Given the description of an element on the screen output the (x, y) to click on. 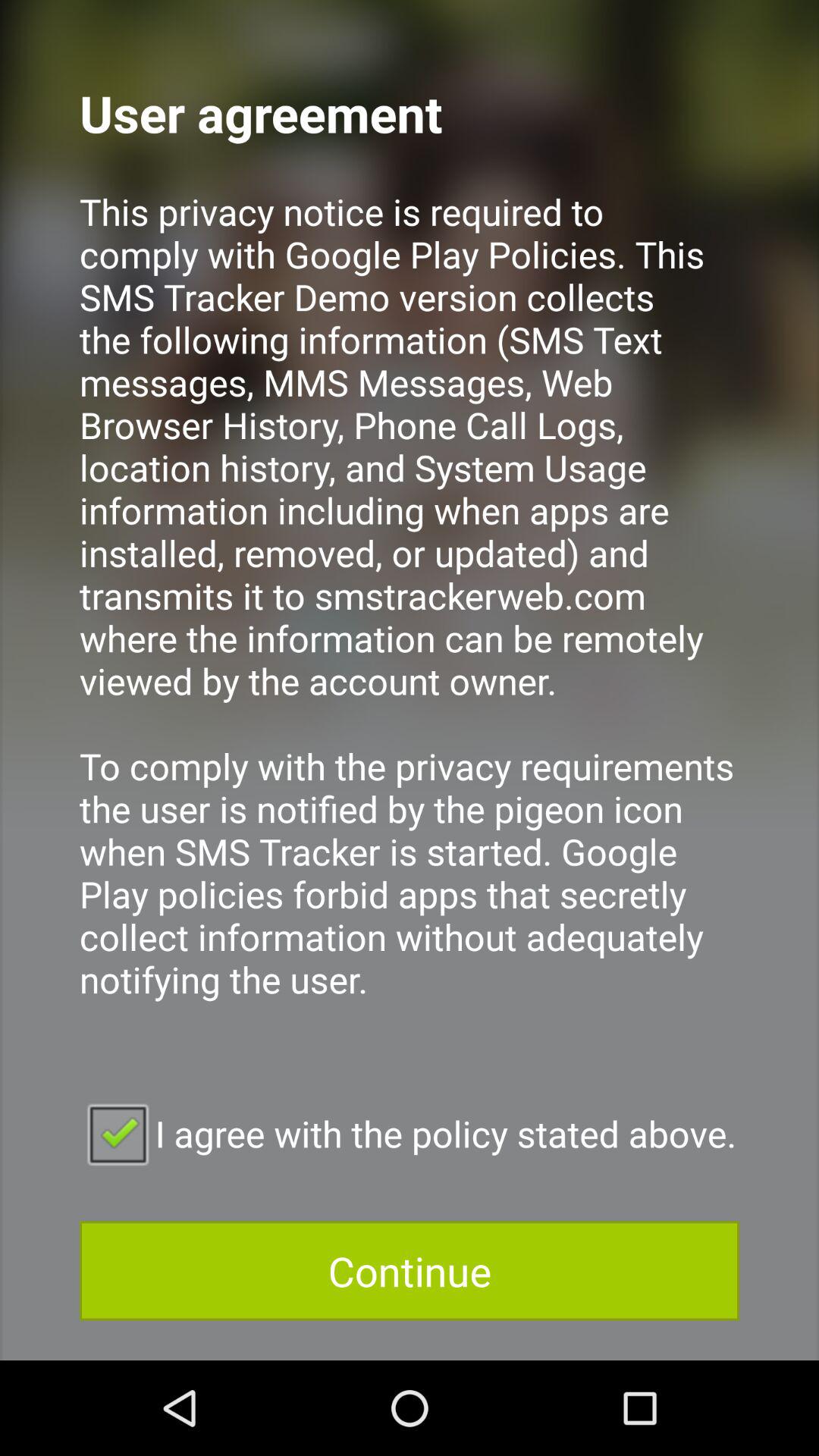
turn on item above continue item (409, 1133)
